Given the description of an element on the screen output the (x, y) to click on. 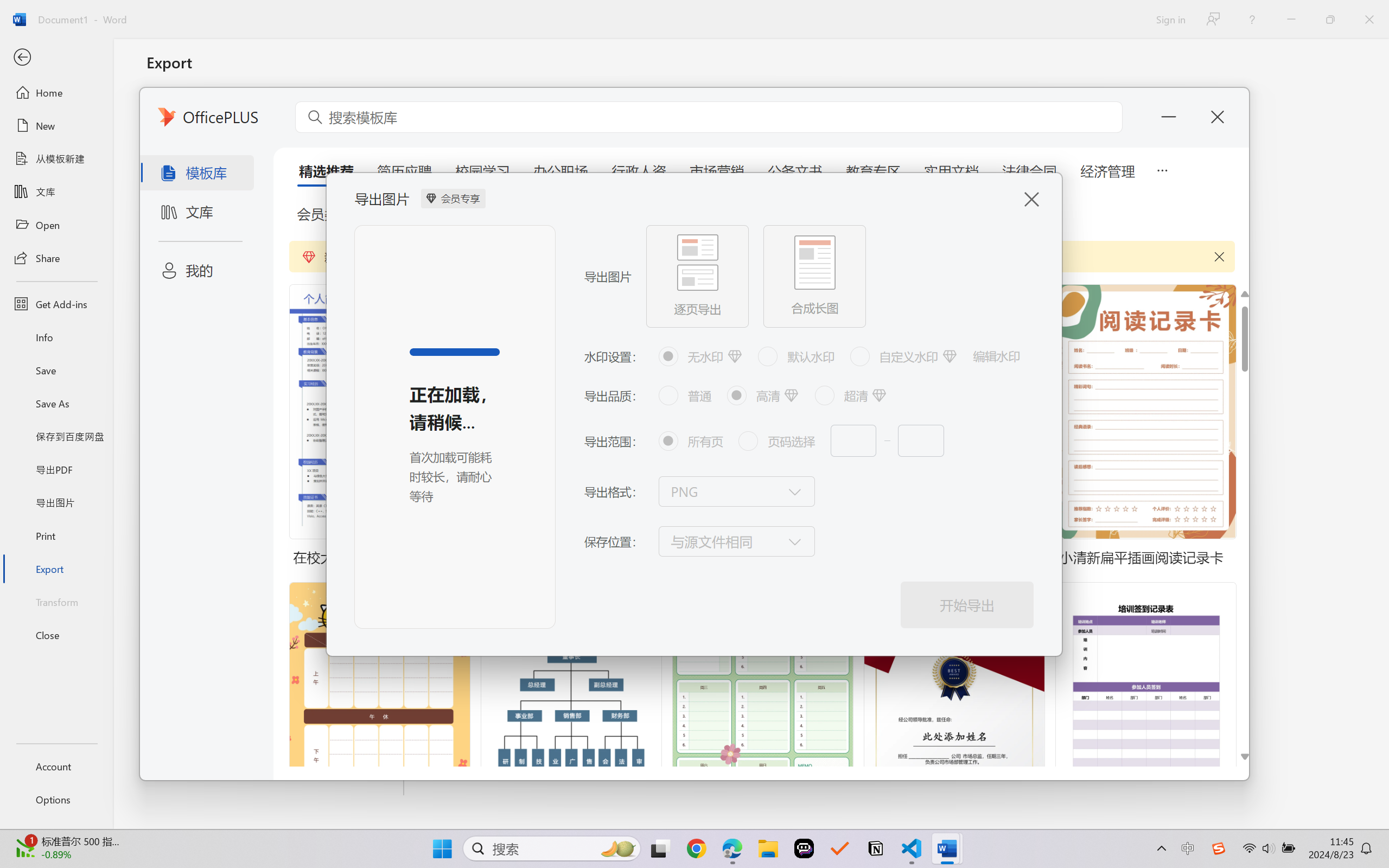
Sign in - Google Accounts (571, 12)
Create your Google Account (426, 12)
Subscriptions - YouTube (1012, 12)
YouTube (938, 12)
Sign In - USA TODAY (130, 12)
Researcher Engagement (563, 71)
Go to the Product policy page (468, 533)
